Given the description of an element on the screen output the (x, y) to click on. 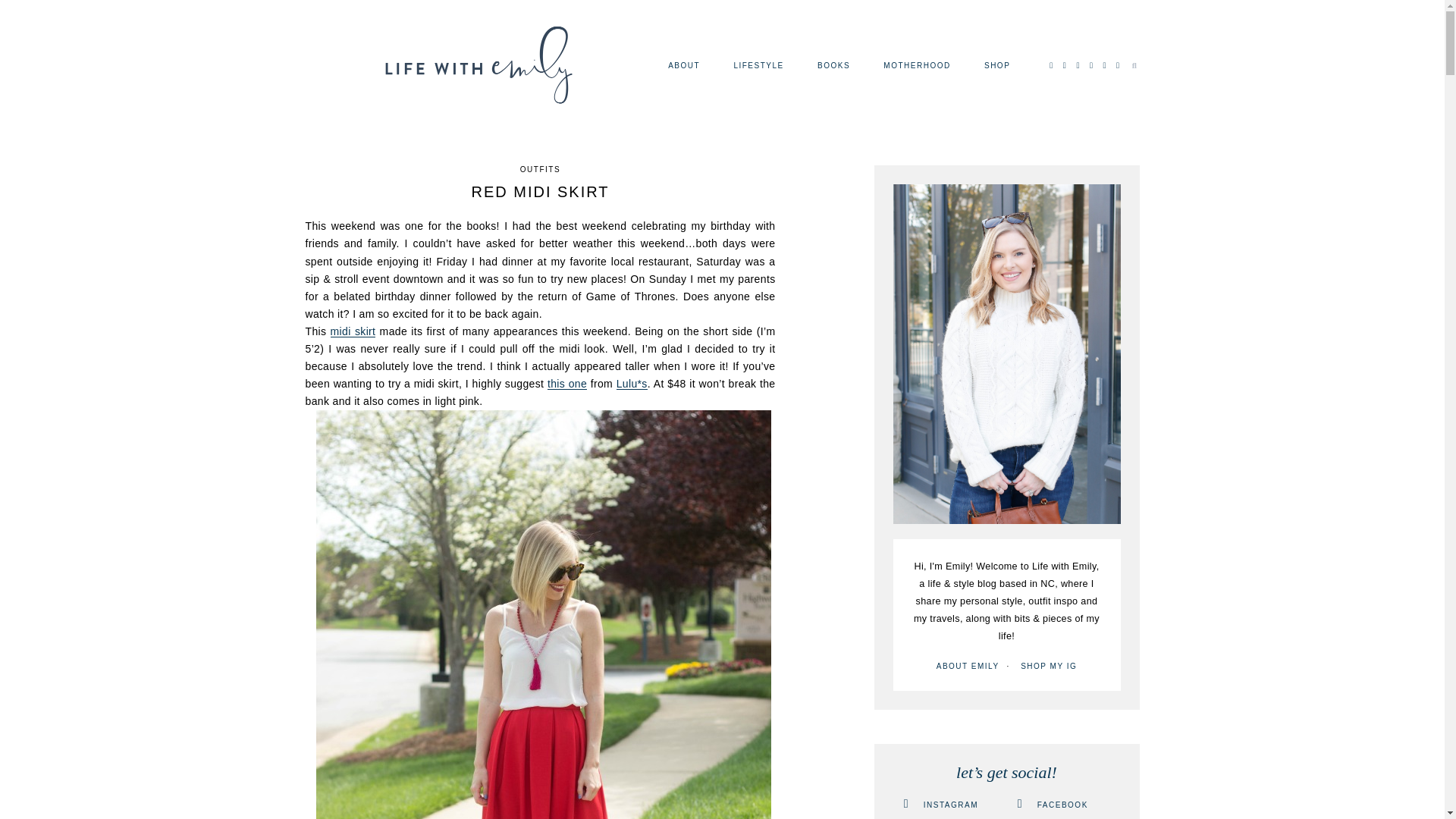
LIFESTYLE (758, 65)
SHOP (997, 65)
MOTHERHOOD (916, 65)
this one (566, 383)
OUTFITS (539, 169)
midi skirt (352, 331)
ABOUT (684, 65)
View all posts in Outfits (539, 169)
BOOKS (833, 65)
